Given the description of an element on the screen output the (x, y) to click on. 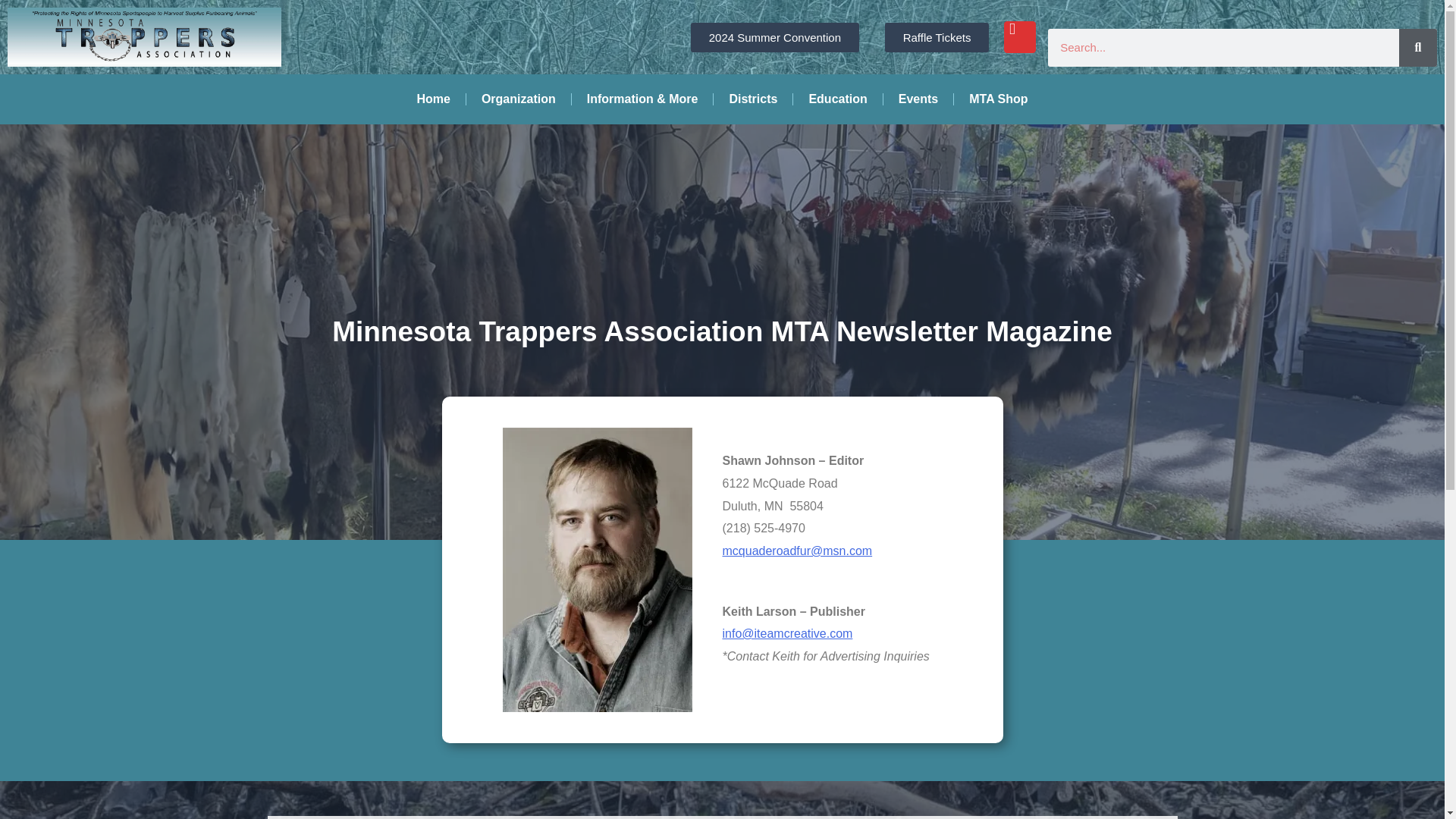
2024 Summer Convention (774, 37)
Organization (517, 99)
Raffle Tickets (937, 37)
Home (432, 99)
Facebook (1019, 37)
Search (1418, 47)
